Given the description of an element on the screen output the (x, y) to click on. 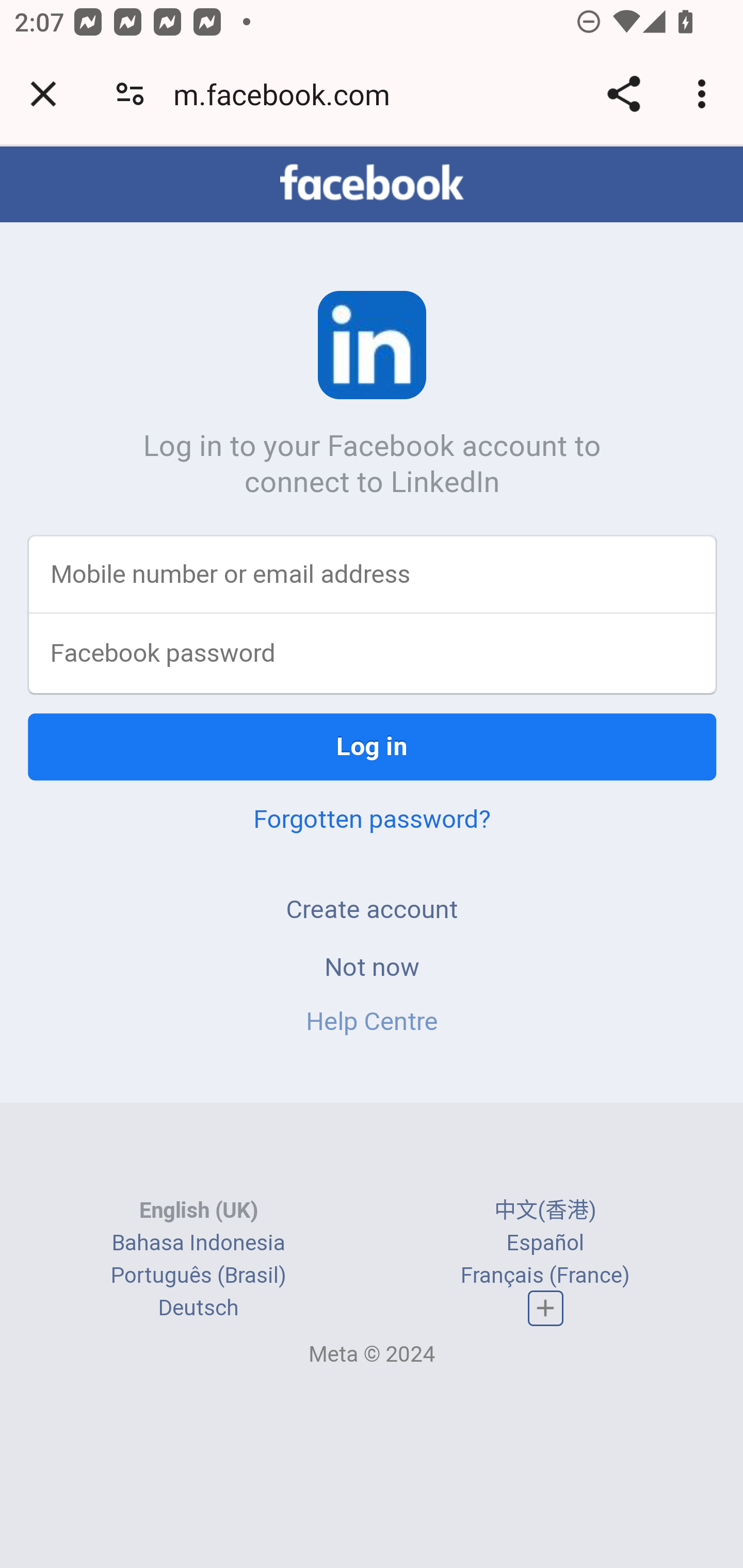
Close tab (43, 93)
Share (623, 93)
Customize and control Google Chrome (705, 93)
Connection is secure (129, 93)
m.facebook.com (288, 93)
facebook (371, 183)
Log in (372, 747)
Forgotten password? (371, 819)
Create account (371, 910)
Not now (371, 968)
Help Centre (371, 1022)
中文(香港) (544, 1211)
Bahasa Indonesia (198, 1243)
Español (545, 1243)
Português (Brasil) (197, 1276)
Français (France) (544, 1276)
Complete list of languages (545, 1309)
Deutsch (197, 1309)
